Given the description of an element on the screen output the (x, y) to click on. 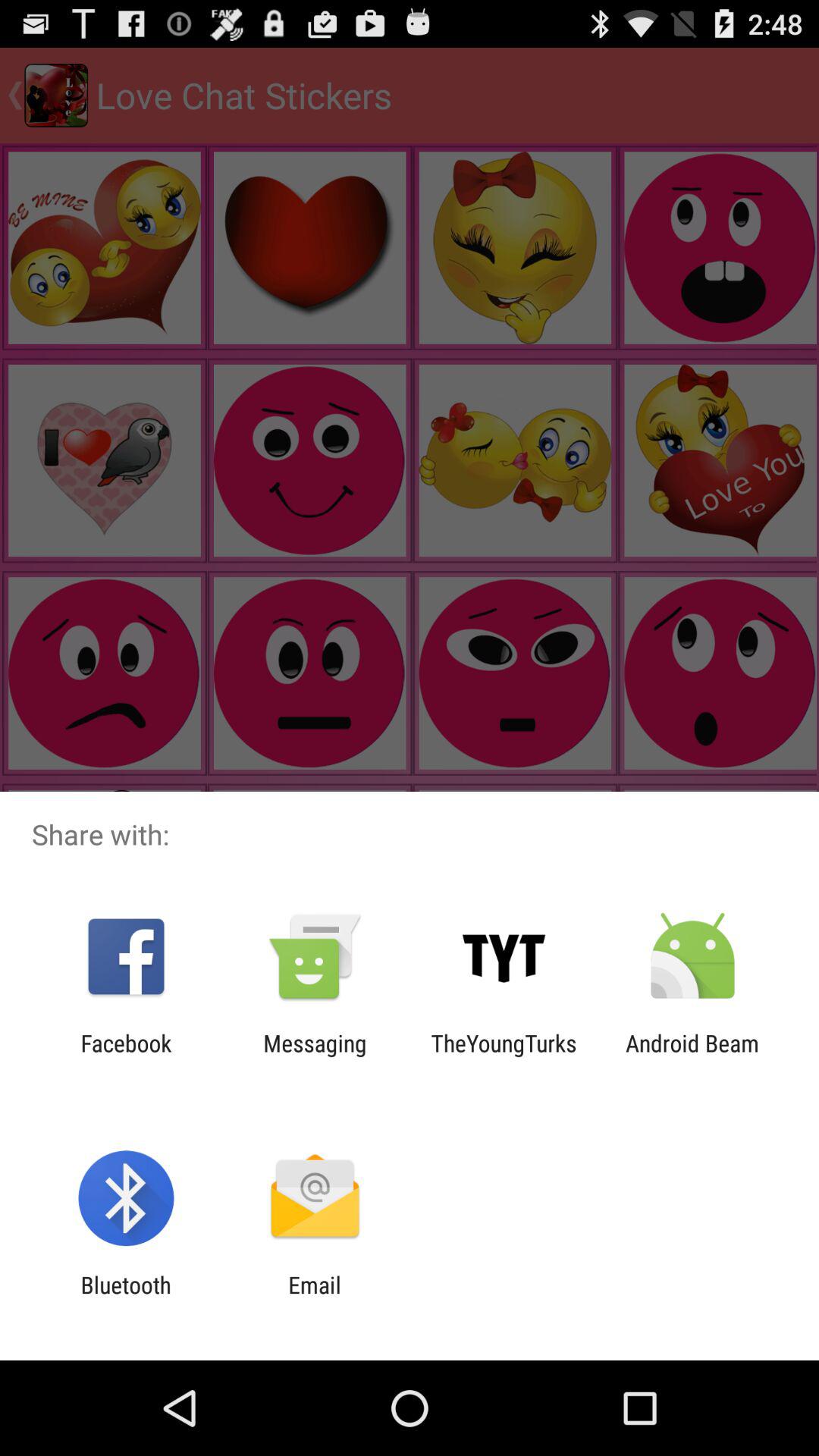
tap item to the left of the email item (125, 1298)
